Given the description of an element on the screen output the (x, y) to click on. 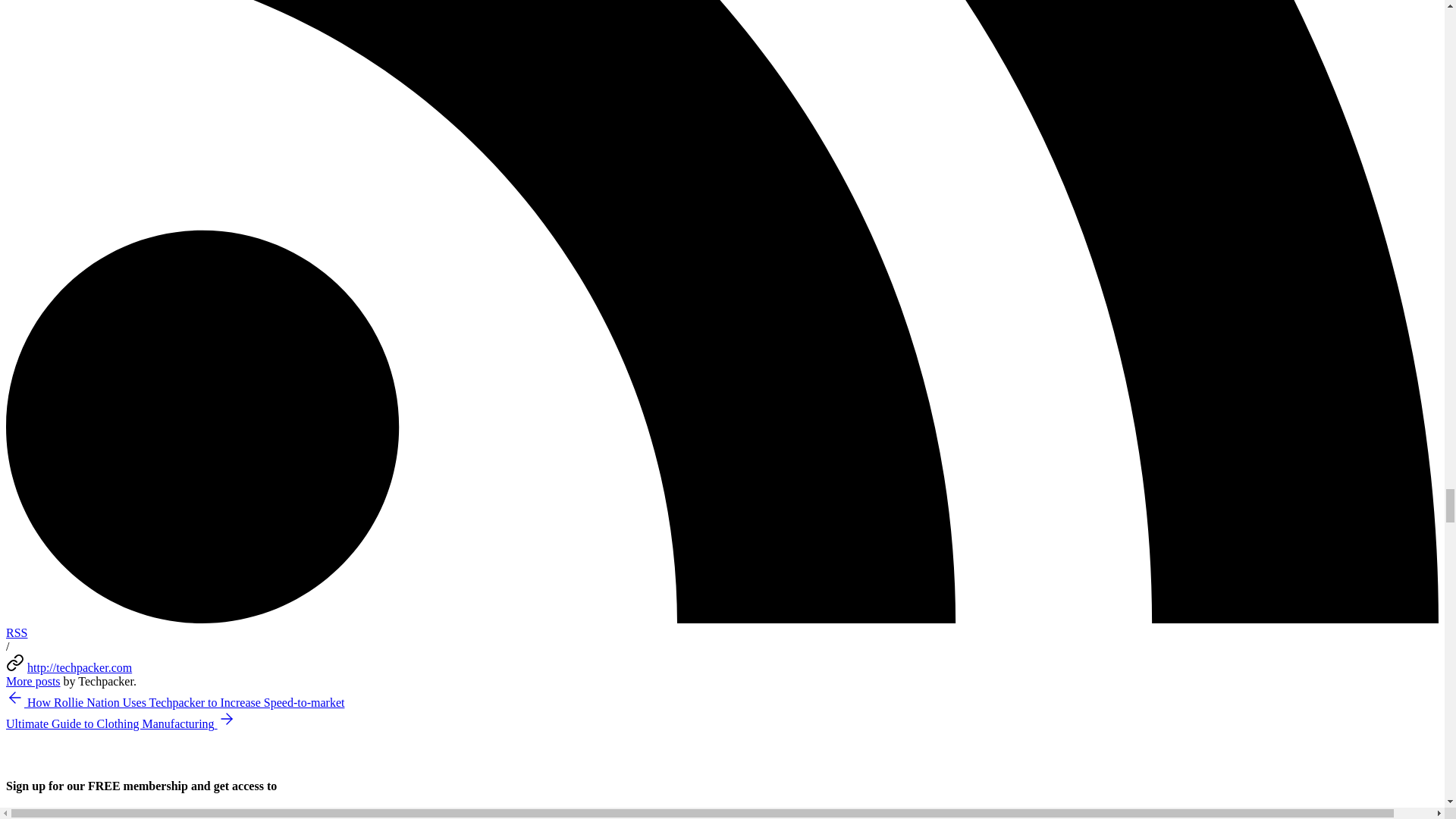
Ultimate Guide to Clothing Manufacturing (120, 723)
RSS icon RSS (721, 625)
More posts (33, 680)
